Given the description of an element on the screen output the (x, y) to click on. 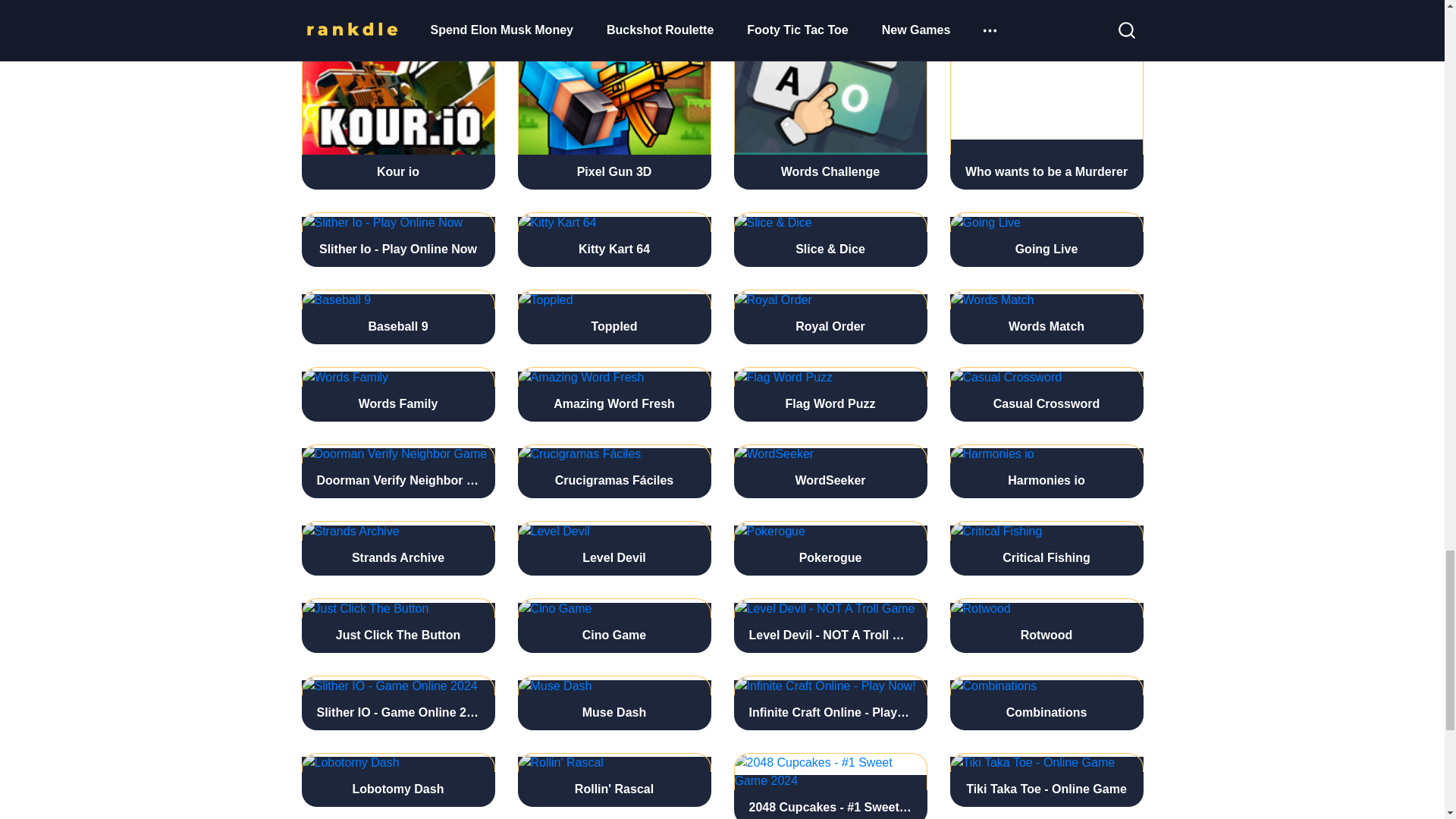
Kour io (398, 94)
Slither Io - Play Online Now (398, 239)
Words Challenge (830, 94)
Pixel Gun 3D (613, 94)
Who wants to be a Murderer (1045, 94)
